Given the description of an element on the screen output the (x, y) to click on. 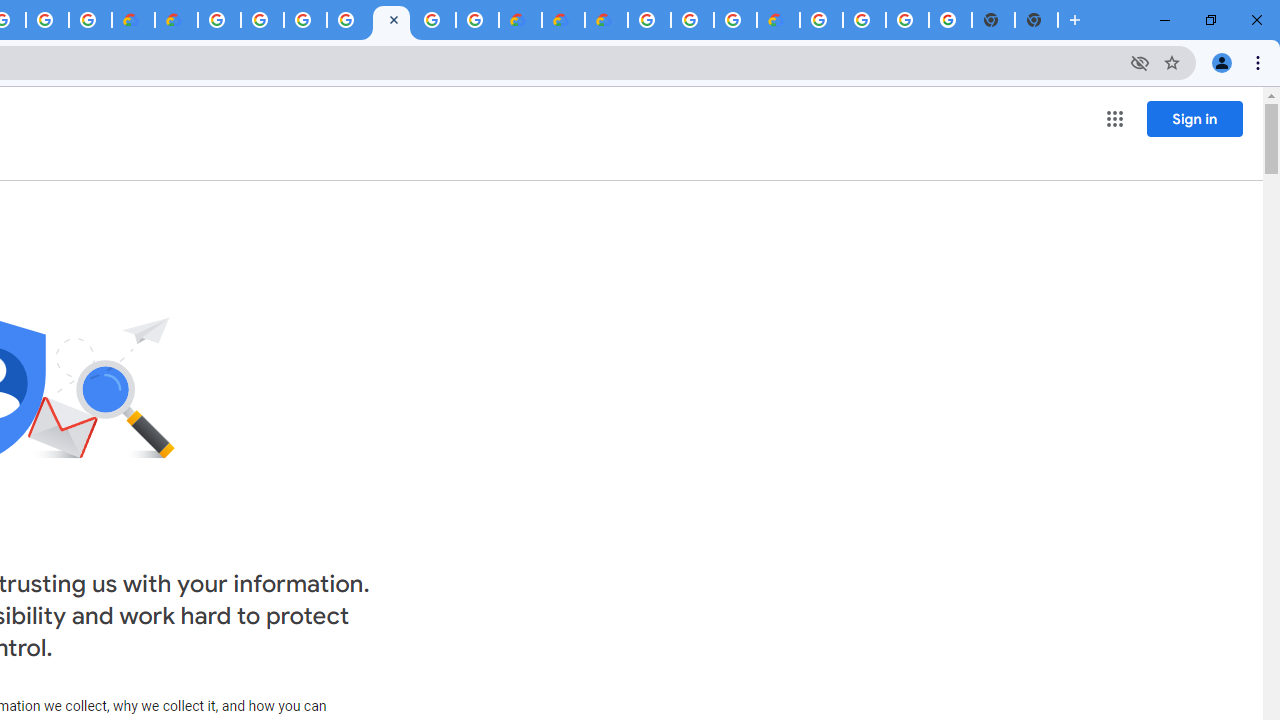
Browse Chrome as a guest - Computer - Google Chrome Help (692, 20)
Google Cloud Pricing Calculator (562, 20)
Chrome (1260, 62)
